Given the description of an element on the screen output the (x, y) to click on. 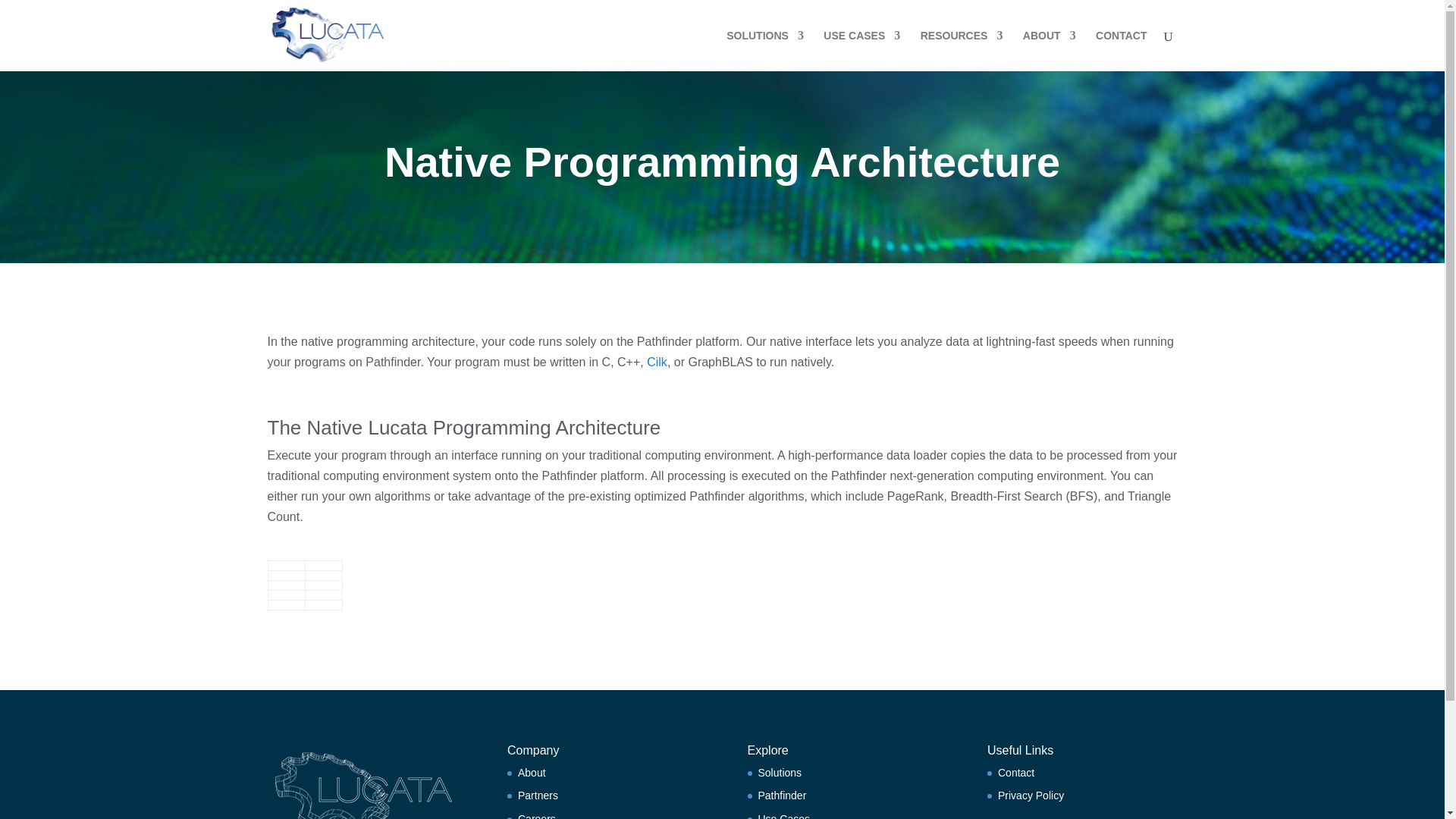
Privacy Policy (1030, 795)
Partners (537, 795)
Pathfinder (782, 795)
SOLUTIONS (764, 50)
Contact (1015, 772)
RESOURCES (961, 50)
USE CASES (861, 50)
Cilk (656, 361)
Careers (537, 816)
ABOUT (1049, 50)
